Given the description of an element on the screen output the (x, y) to click on. 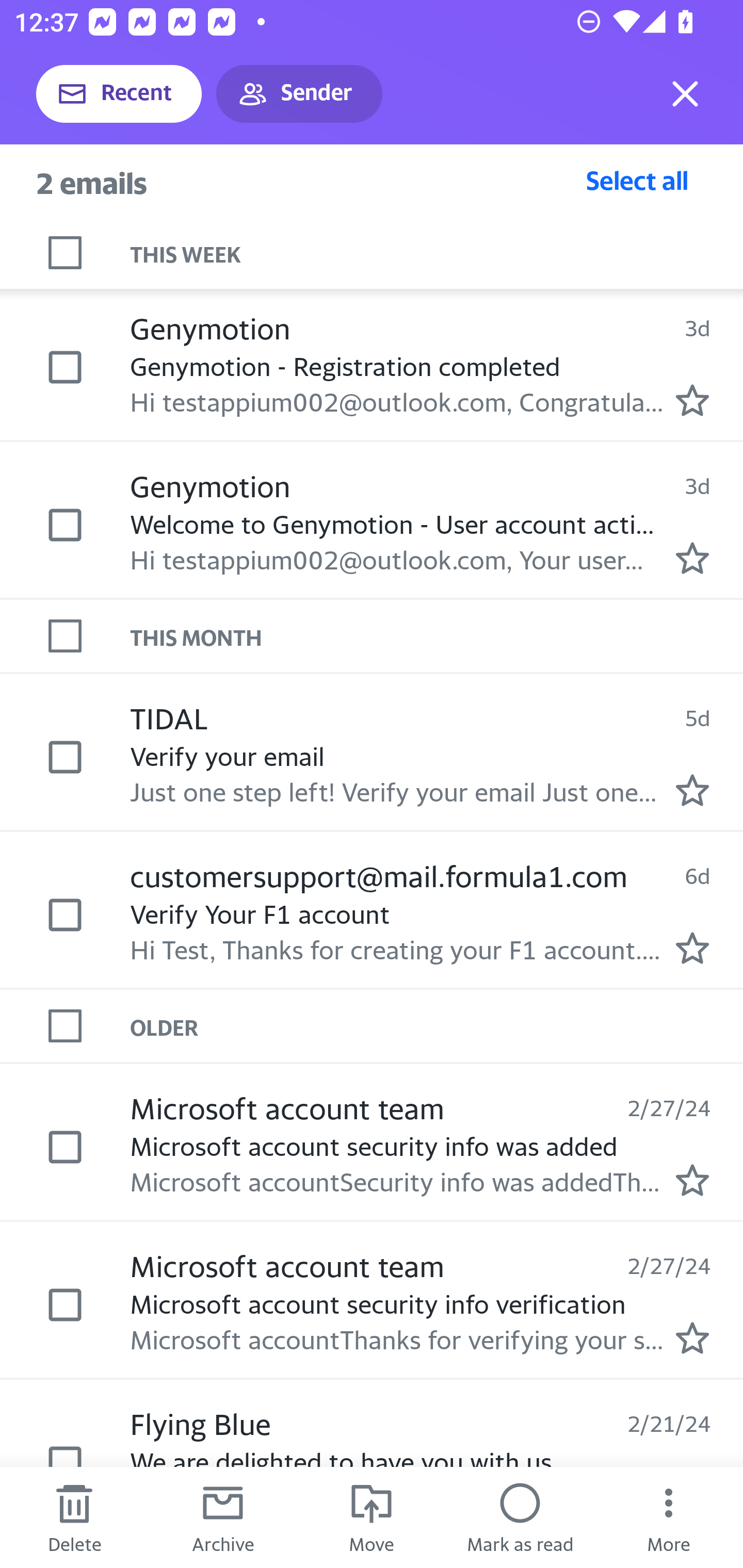
Sender (299, 93)
Exit selection mode (684, 93)
Select all (637, 180)
Mark as starred. (692, 400)
Mark as starred. (692, 557)
THIS MONTH (436, 635)
Mark as starred. (692, 789)
Mark as starred. (692, 947)
OLDER (436, 1025)
Mark as starred. (692, 1179)
Mark as starred. (692, 1338)
Delete (74, 1517)
Archive (222, 1517)
Move (371, 1517)
Mark as read (519, 1517)
More (668, 1517)
